Given the description of an element on the screen output the (x, y) to click on. 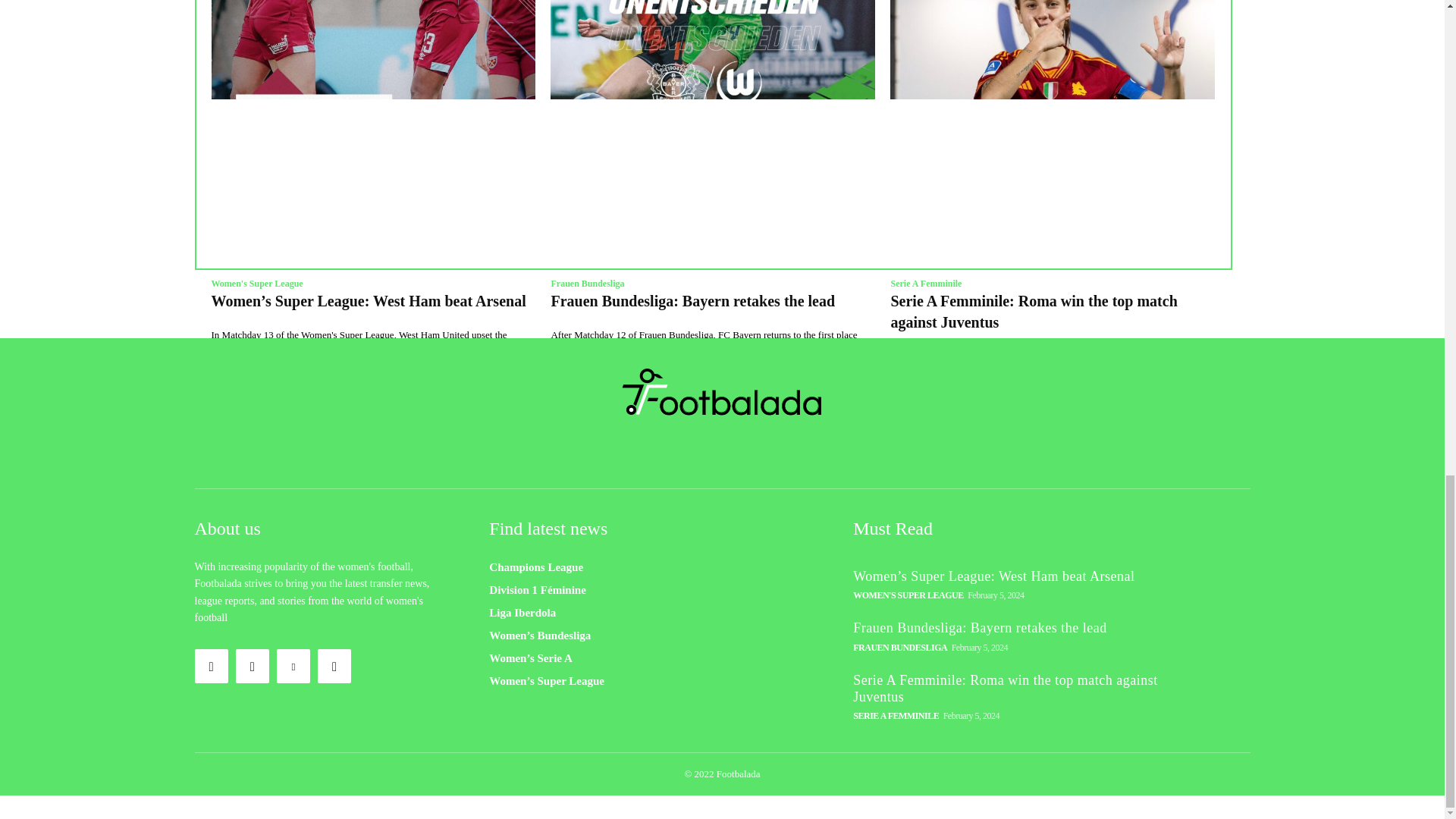
Women's Super League (256, 283)
Frauen Bundesliga (587, 283)
Frauen Bundesliga: Bayern retakes the lead (712, 49)
